Given the description of an element on the screen output the (x, y) to click on. 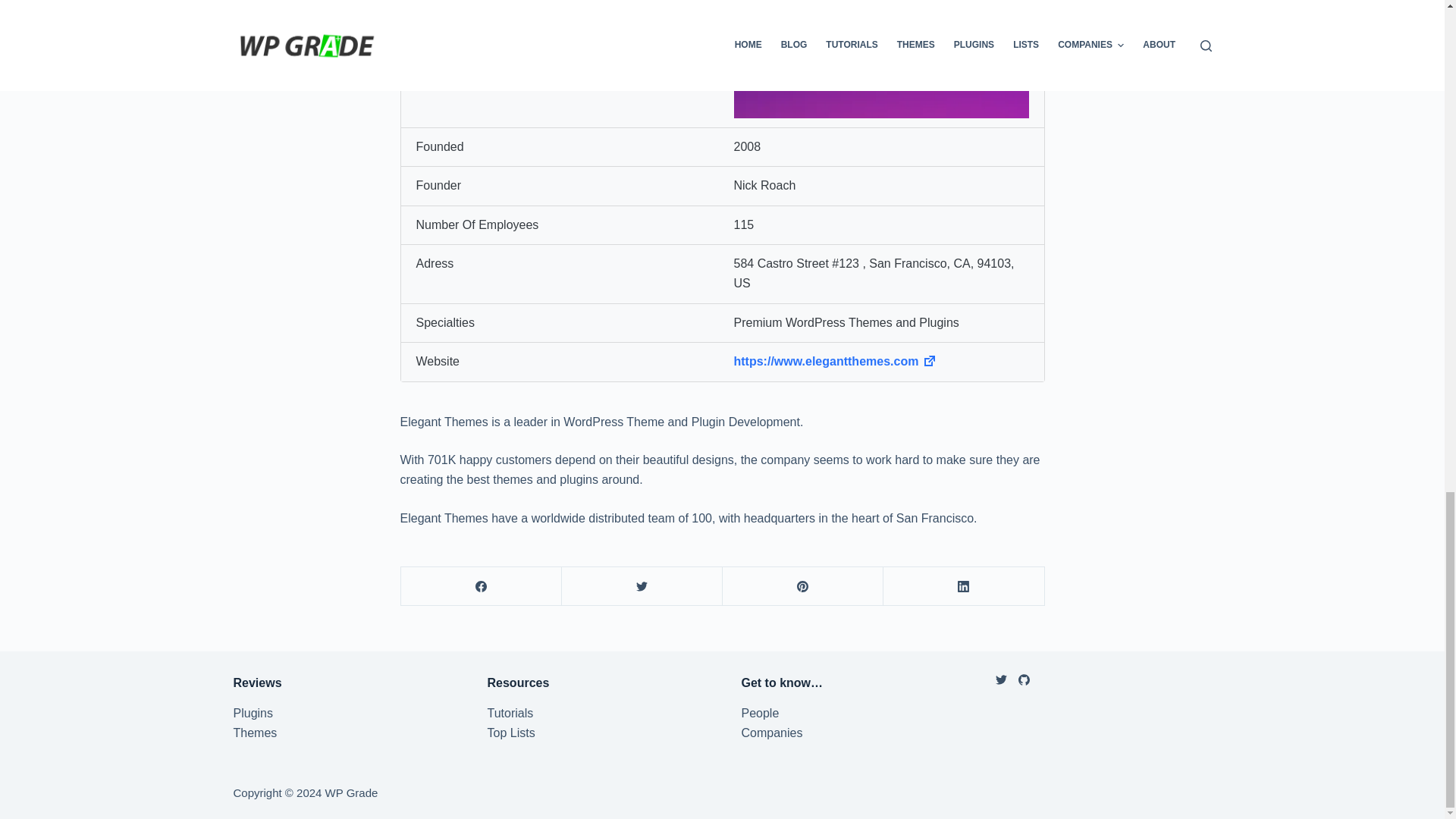
Themes (255, 732)
Tutorials (509, 712)
People (759, 712)
Plugins (252, 712)
Top Lists (510, 732)
Companies (772, 732)
